Given the description of an element on the screen output the (x, y) to click on. 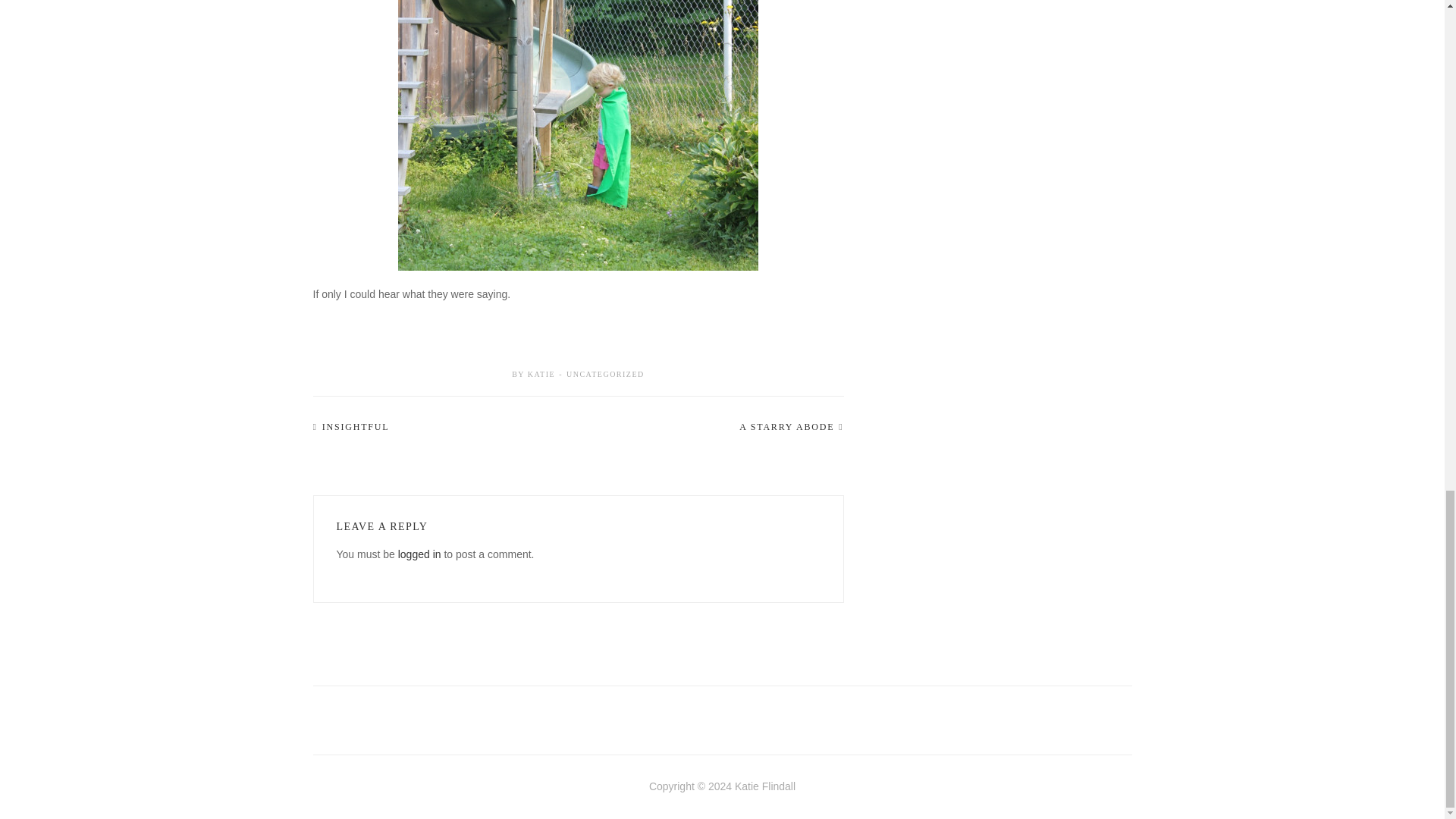
KATIE (540, 374)
INSIGHTFUL (355, 426)
A STARRY ABODE (786, 426)
logged in (419, 553)
UNCATEGORIZED (605, 374)
